Given the description of an element on the screen output the (x, y) to click on. 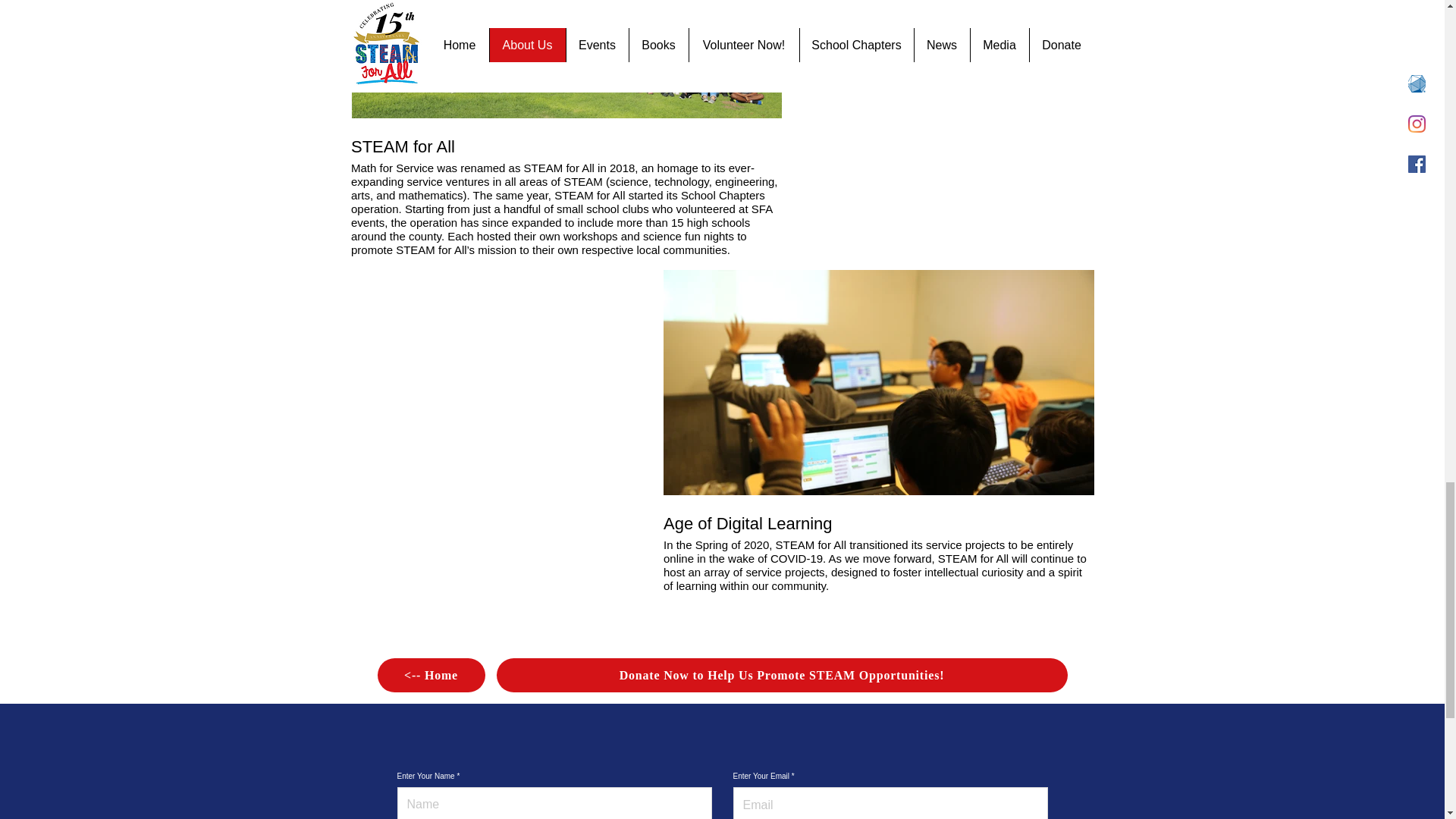
Donate Now to Help Us Promote STEAM Opportunities! (781, 675)
